Given the description of an element on the screen output the (x, y) to click on. 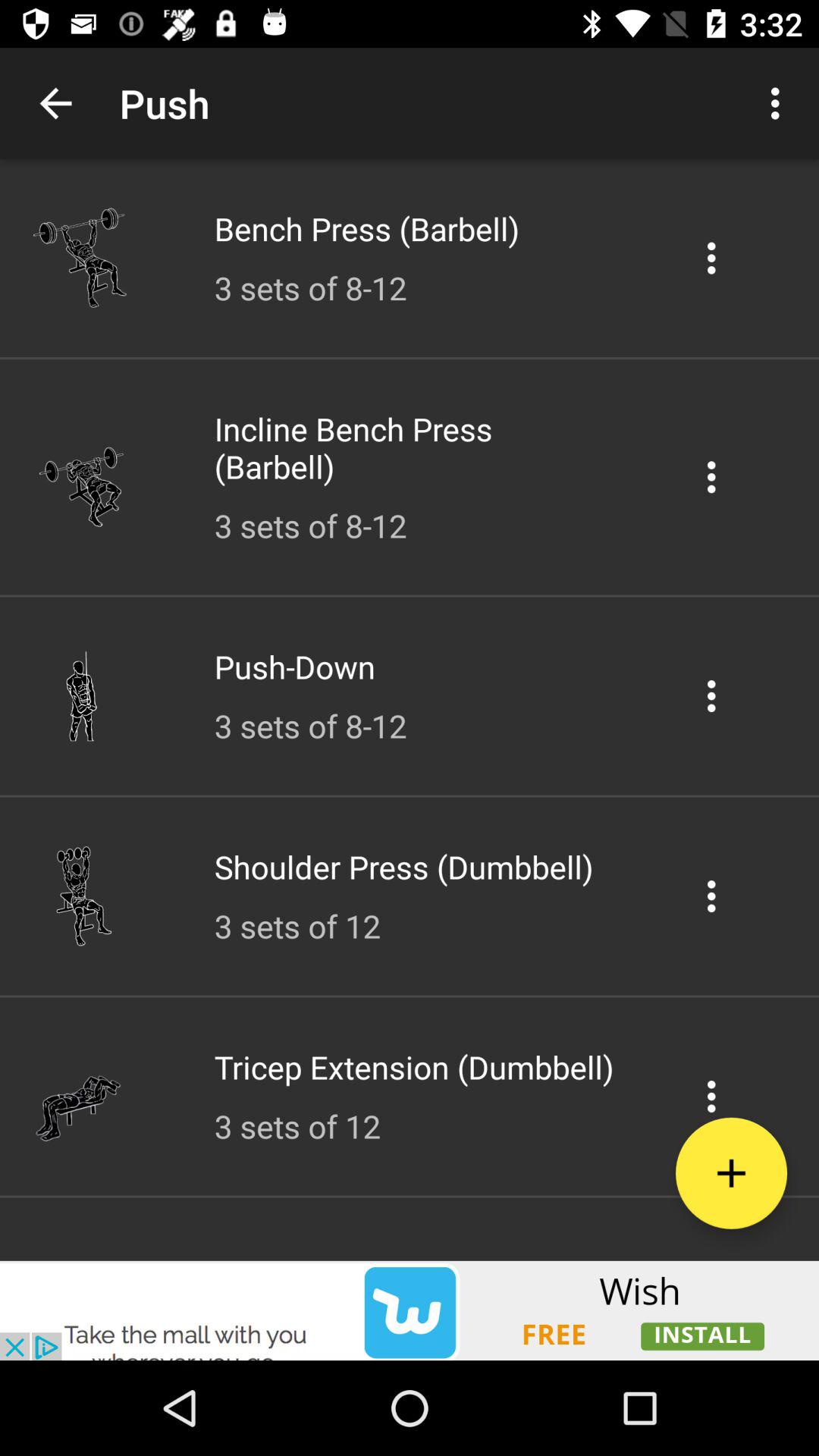
open additional settings/options (711, 1096)
